Given the description of an element on the screen output the (x, y) to click on. 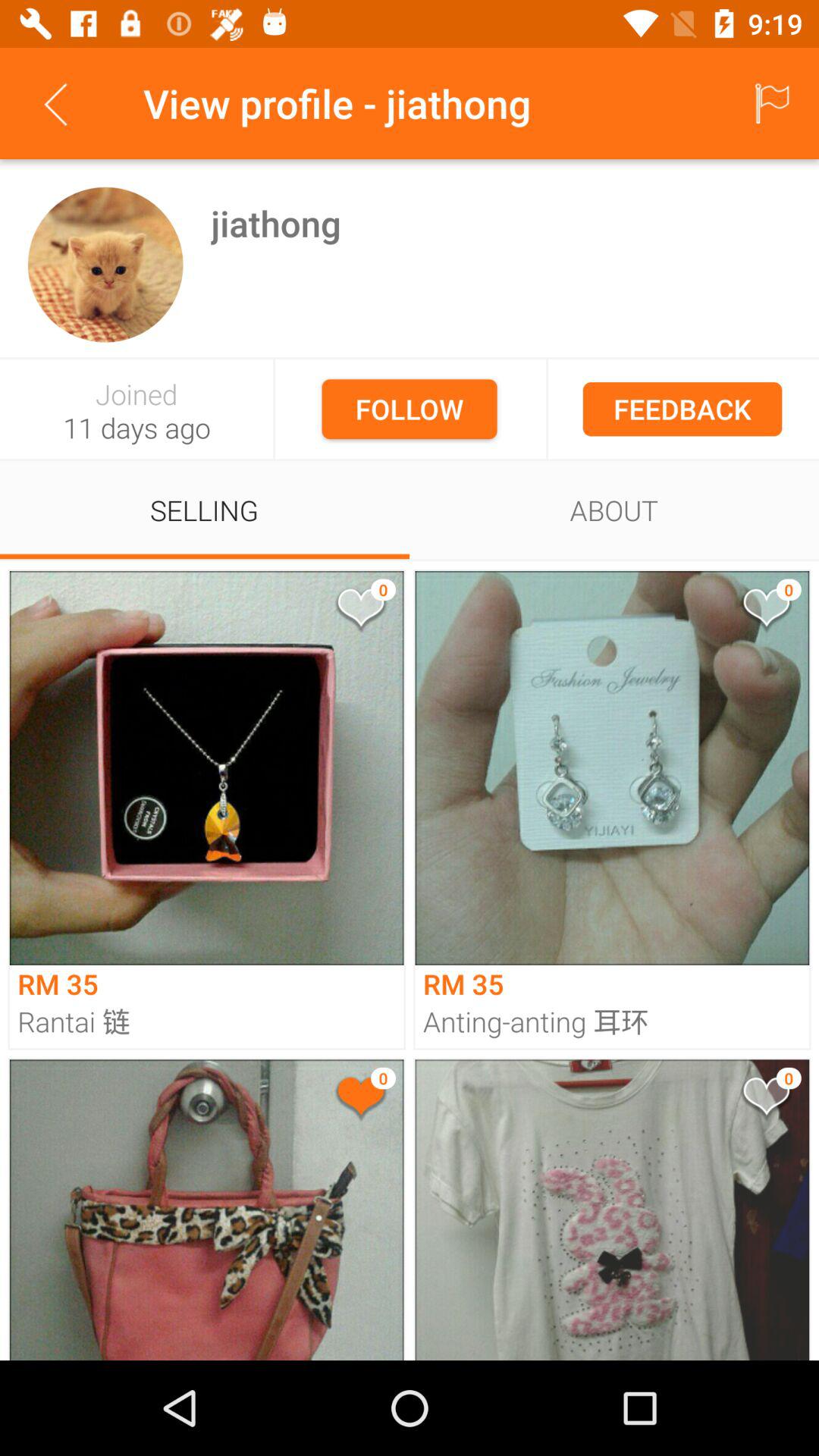
tap the icon next to view profile - jiathong icon (771, 103)
